Given the description of an element on the screen output the (x, y) to click on. 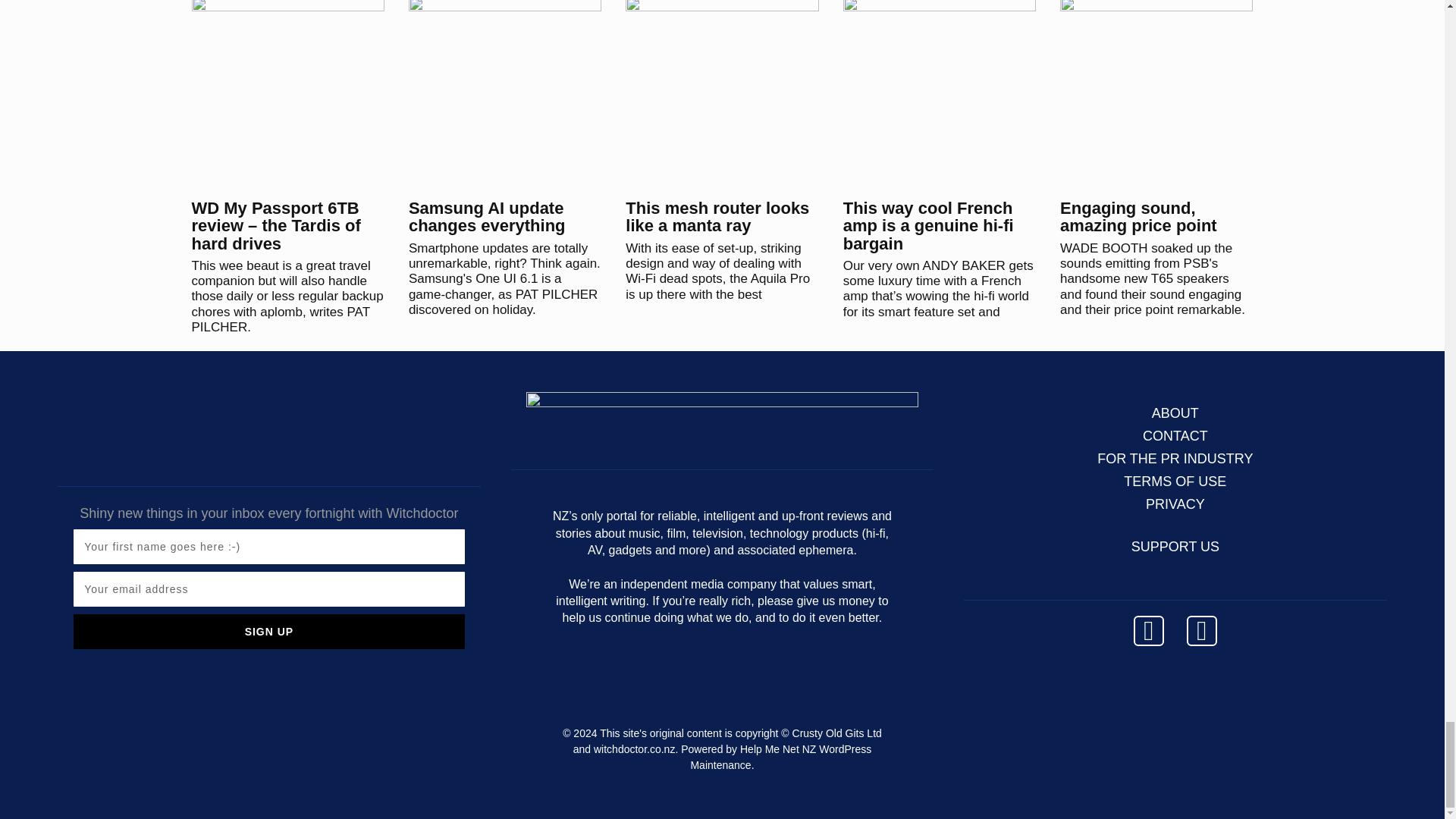
Sign up (269, 631)
